Given the description of an element on the screen output the (x, y) to click on. 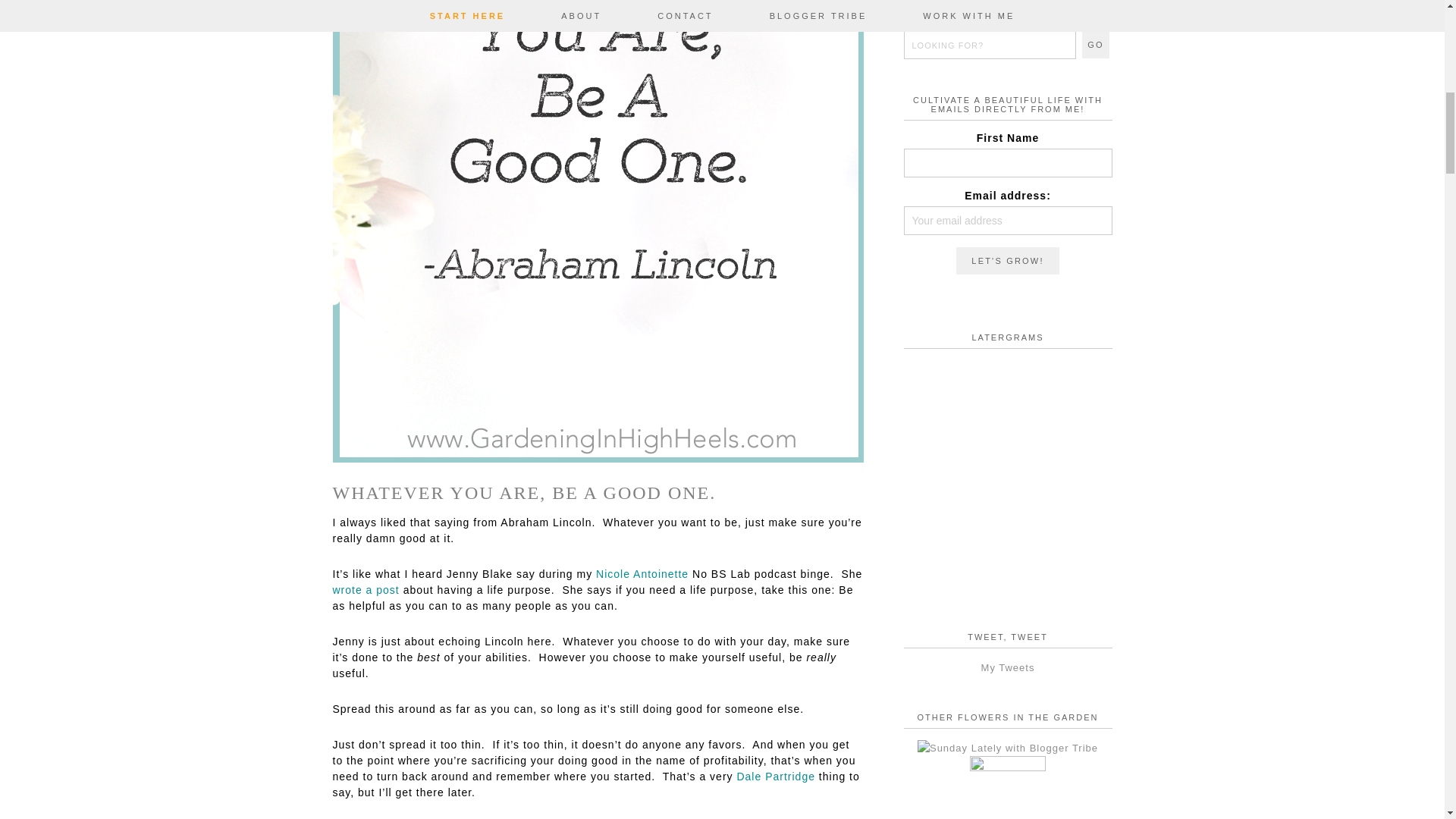
GO (1095, 44)
Dale Partridge (775, 776)
wrote a post (364, 589)
Let's Grow! (1007, 260)
Nicole Antoinette (641, 573)
